Given the description of an element on the screen output the (x, y) to click on. 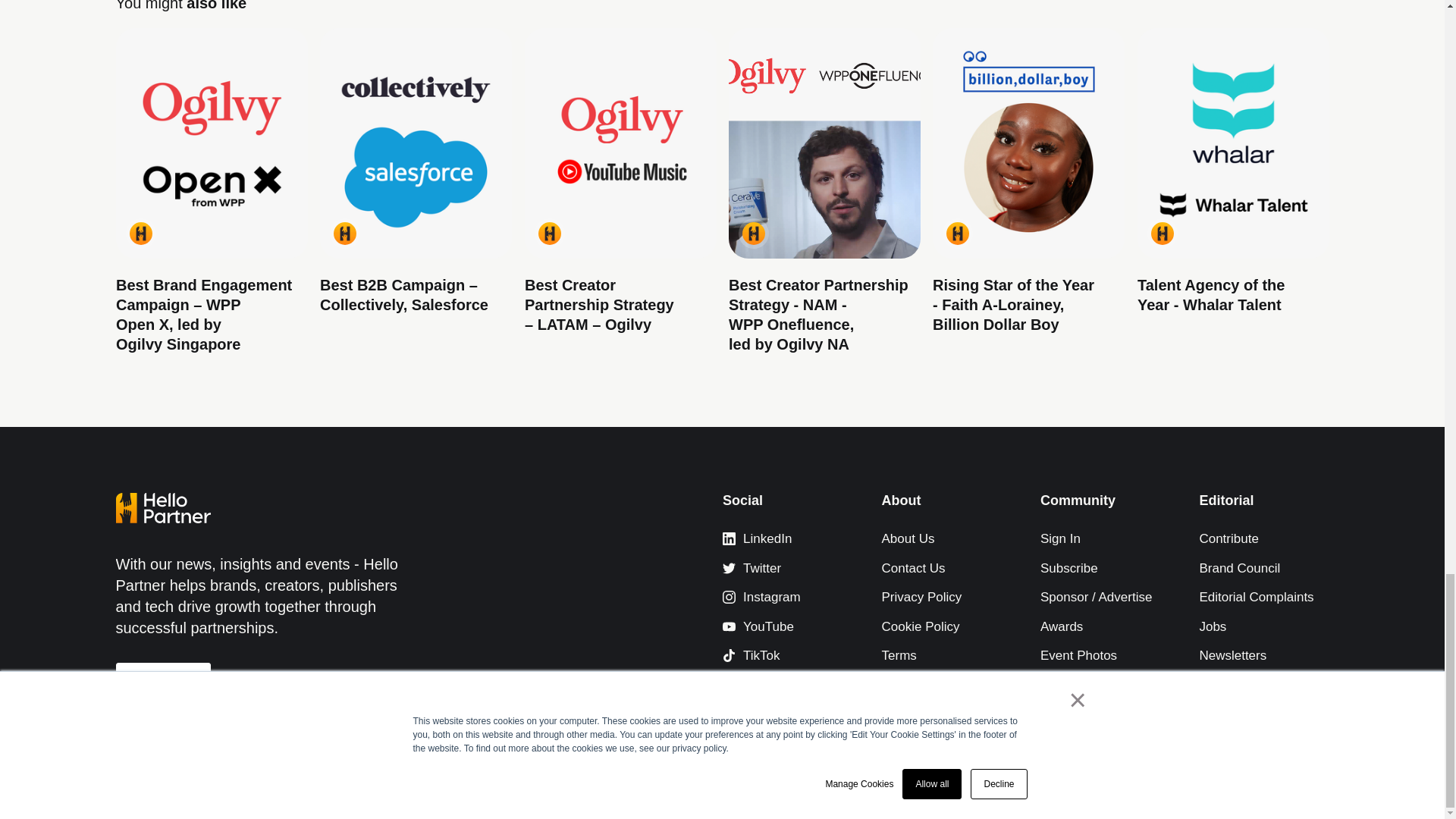
Hello Partner (1161, 232)
Hello Partner (344, 232)
Hello Partner (752, 232)
Hello Partner (140, 232)
Hello Partner (548, 232)
Hello Partner (957, 232)
